Given the description of an element on the screen output the (x, y) to click on. 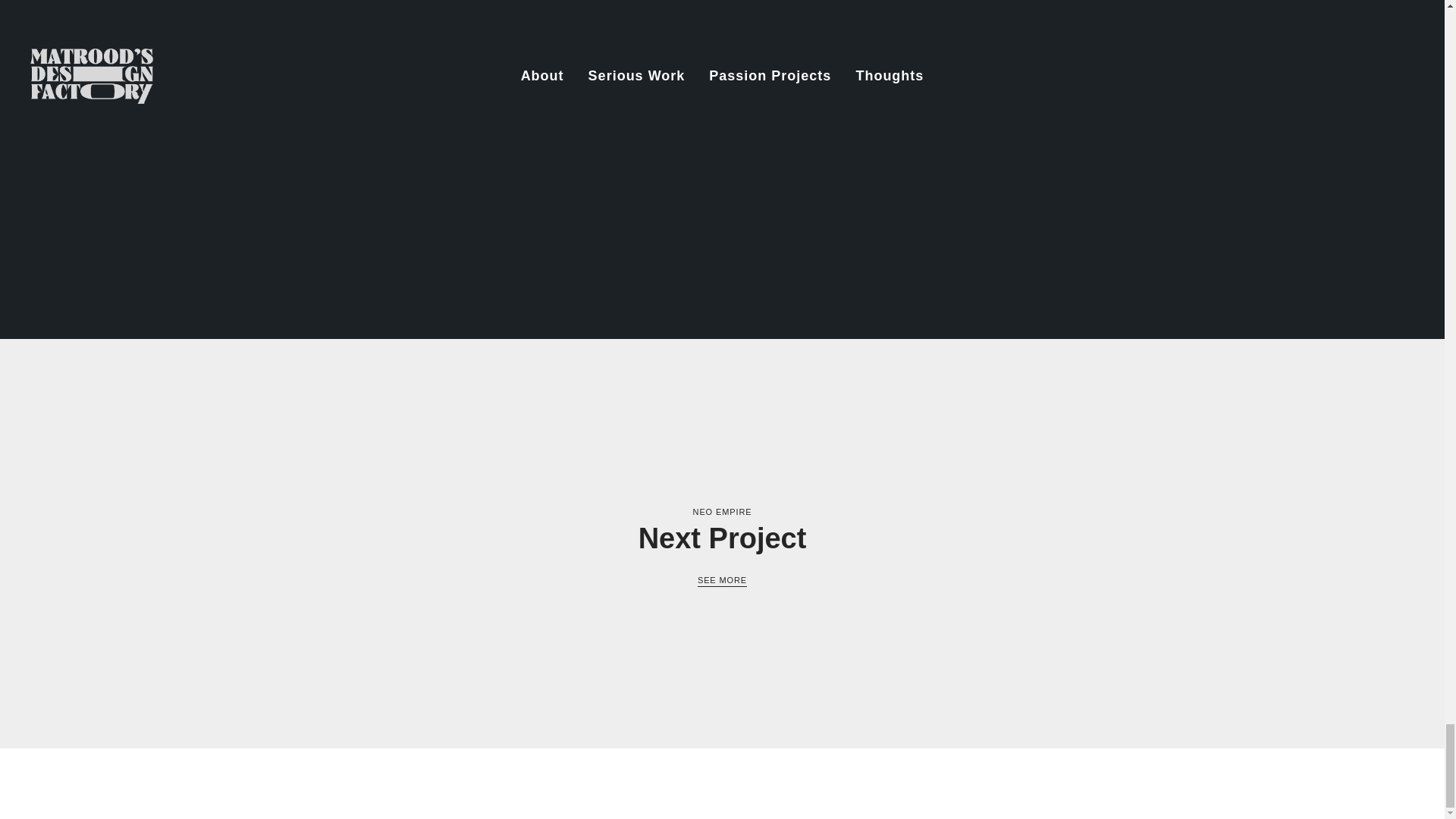
About (874, 783)
Serious Work (930, 783)
LinkedIn (829, 783)
Passion Projects (1009, 783)
Instagram (761, 783)
Thoughts (1079, 783)
